Given the description of an element on the screen output the (x, y) to click on. 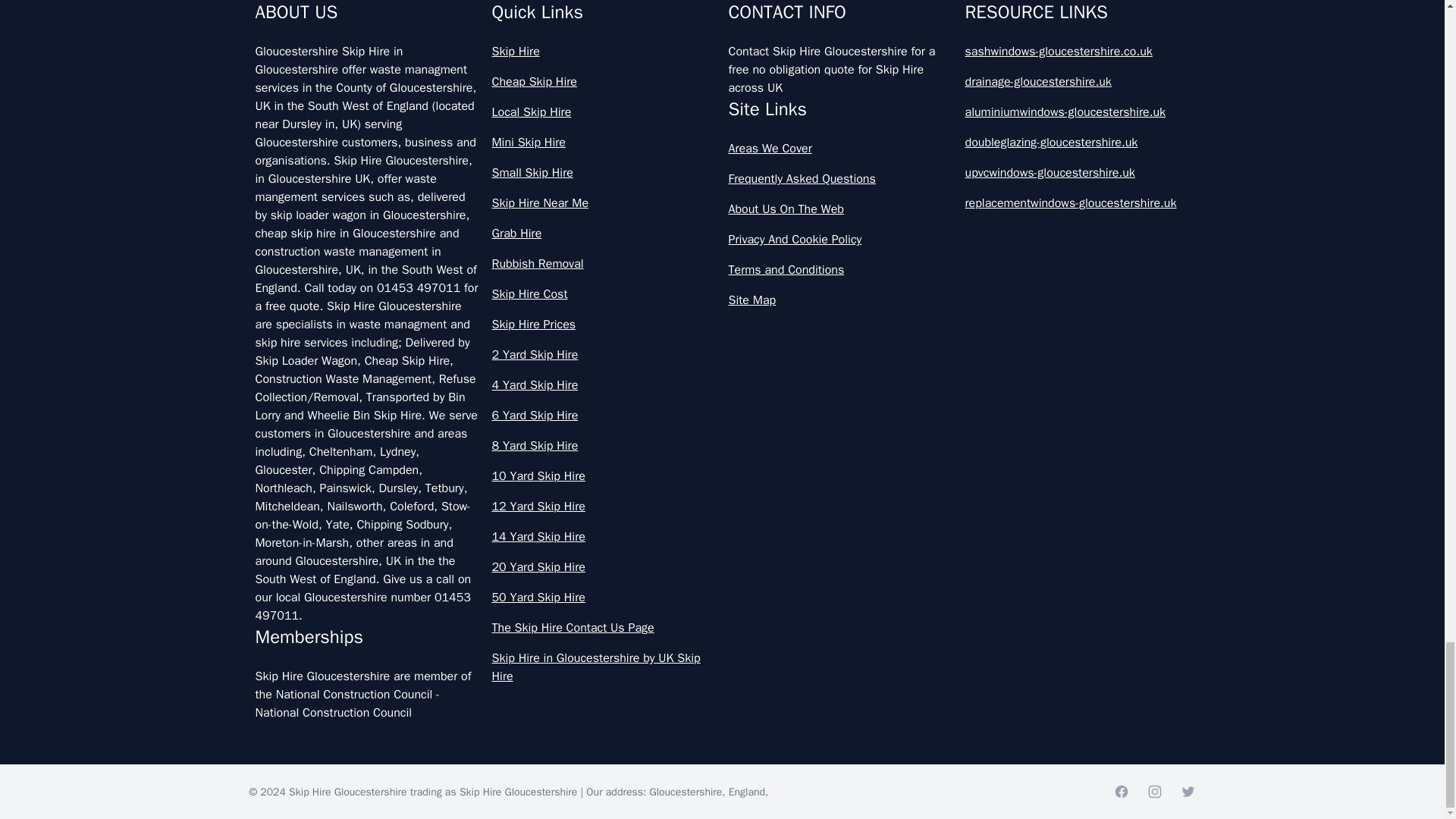
Overton (486, 36)
aluminiumwindows-gloucestershire.uk (1076, 112)
replacementwindows-gloucestershire.uk (1076, 203)
Priding (486, 110)
Site Map (840, 300)
doubleglazing-gloucestershire.uk (1076, 142)
drainage-gloucestershire.uk (1076, 81)
sashwindows-gloucestershire.co.uk (1076, 51)
Parkend (945, 36)
Skip Hire in Gloucestershire by UK Skip Hire (604, 667)
